Given the description of an element on the screen output the (x, y) to click on. 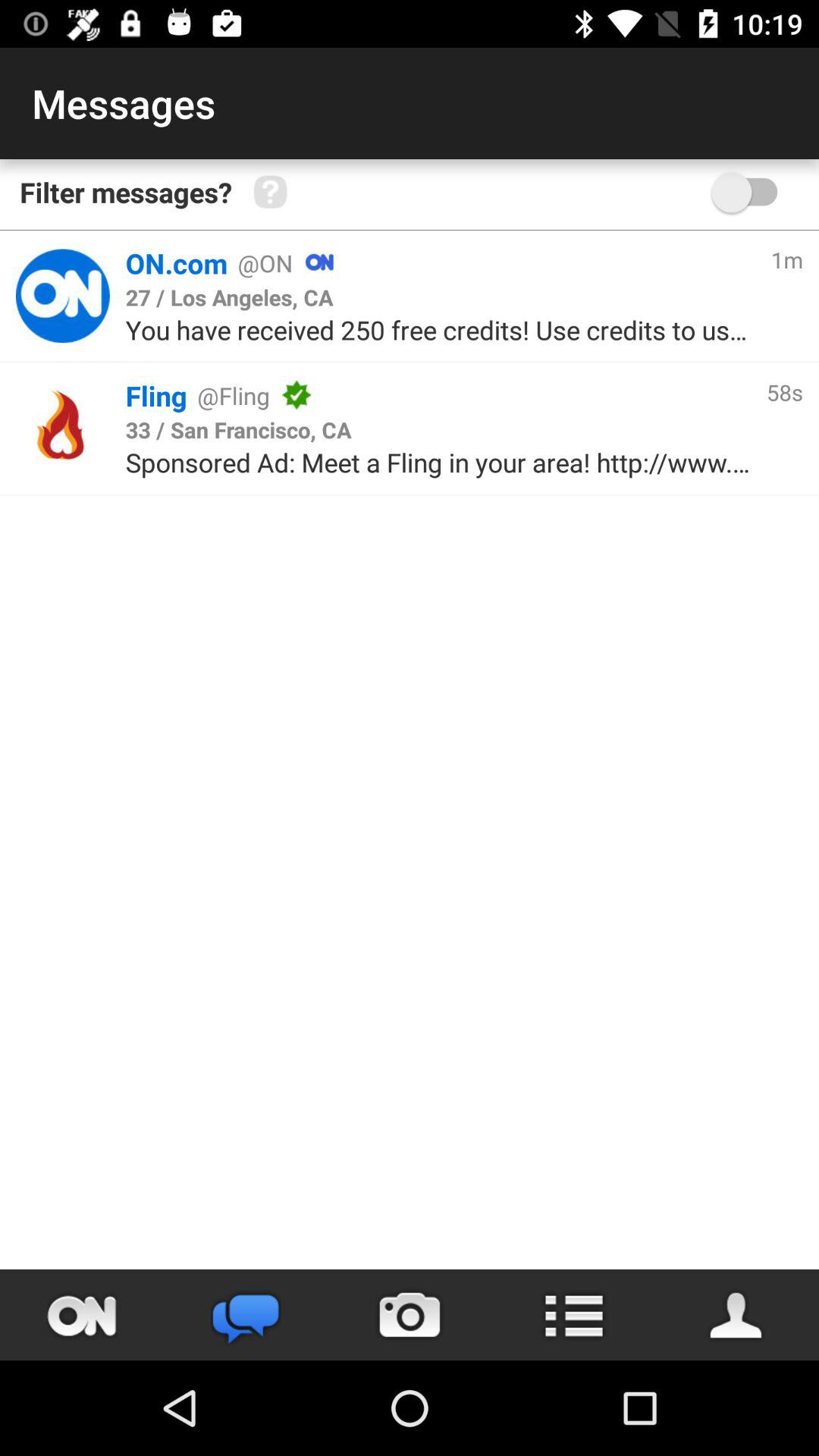
open the item below the 33 san francisco item (437, 462)
